Given the description of an element on the screen output the (x, y) to click on. 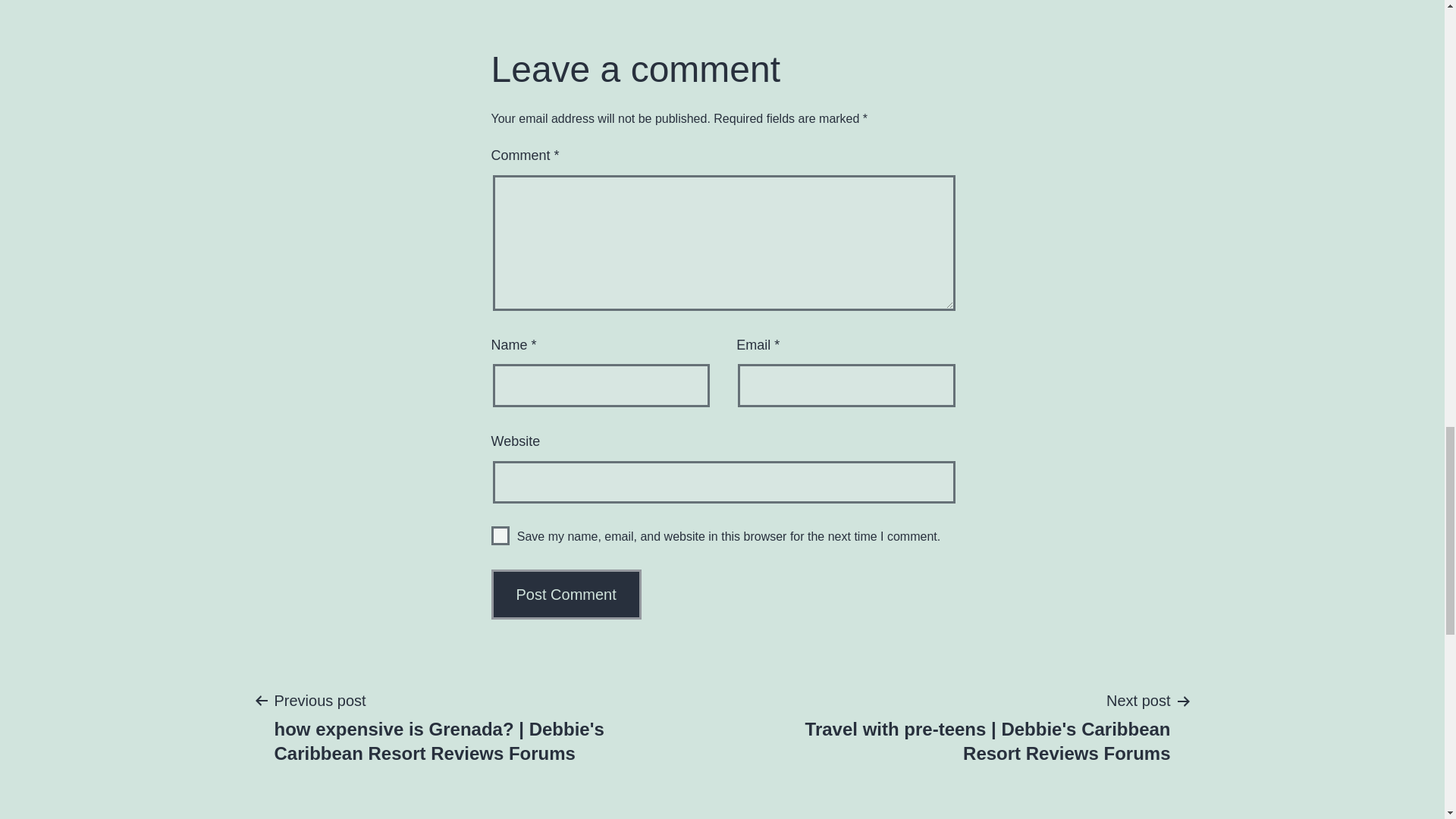
yes (500, 535)
Post Comment (567, 594)
Post Comment (567, 594)
